Given the description of an element on the screen output the (x, y) to click on. 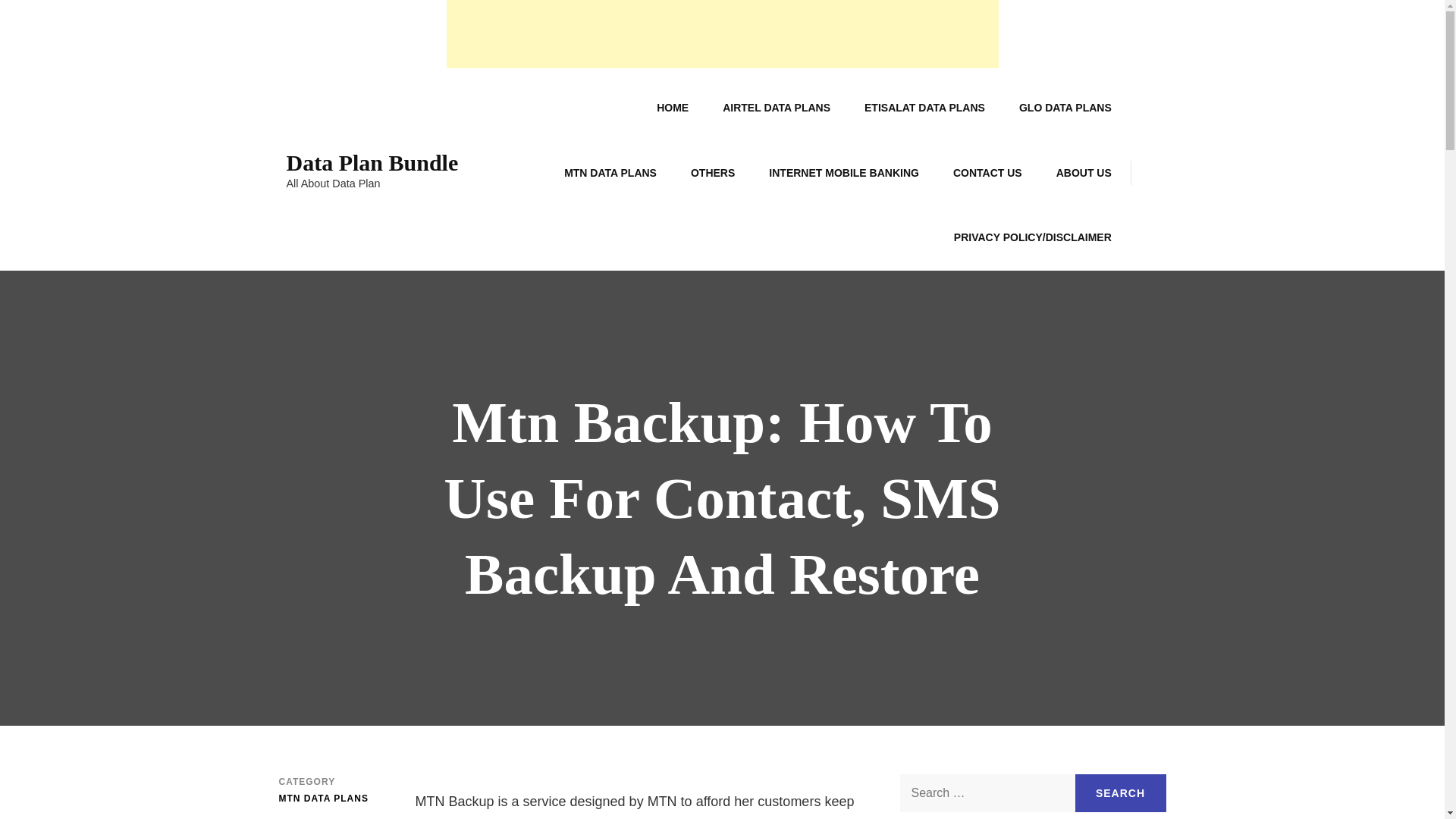
INTERNET MOBILE BANKING (844, 172)
OTHERS (712, 172)
ETISALAT DATA PLANS (924, 108)
CONTACT US (986, 172)
ABOUT US (1083, 172)
Search (1120, 792)
MTN DATA PLANS (609, 172)
MTN DATA PLANS (323, 799)
AIRTEL DATA PLANS (776, 108)
HOME (672, 108)
